Given the description of an element on the screen output the (x, y) to click on. 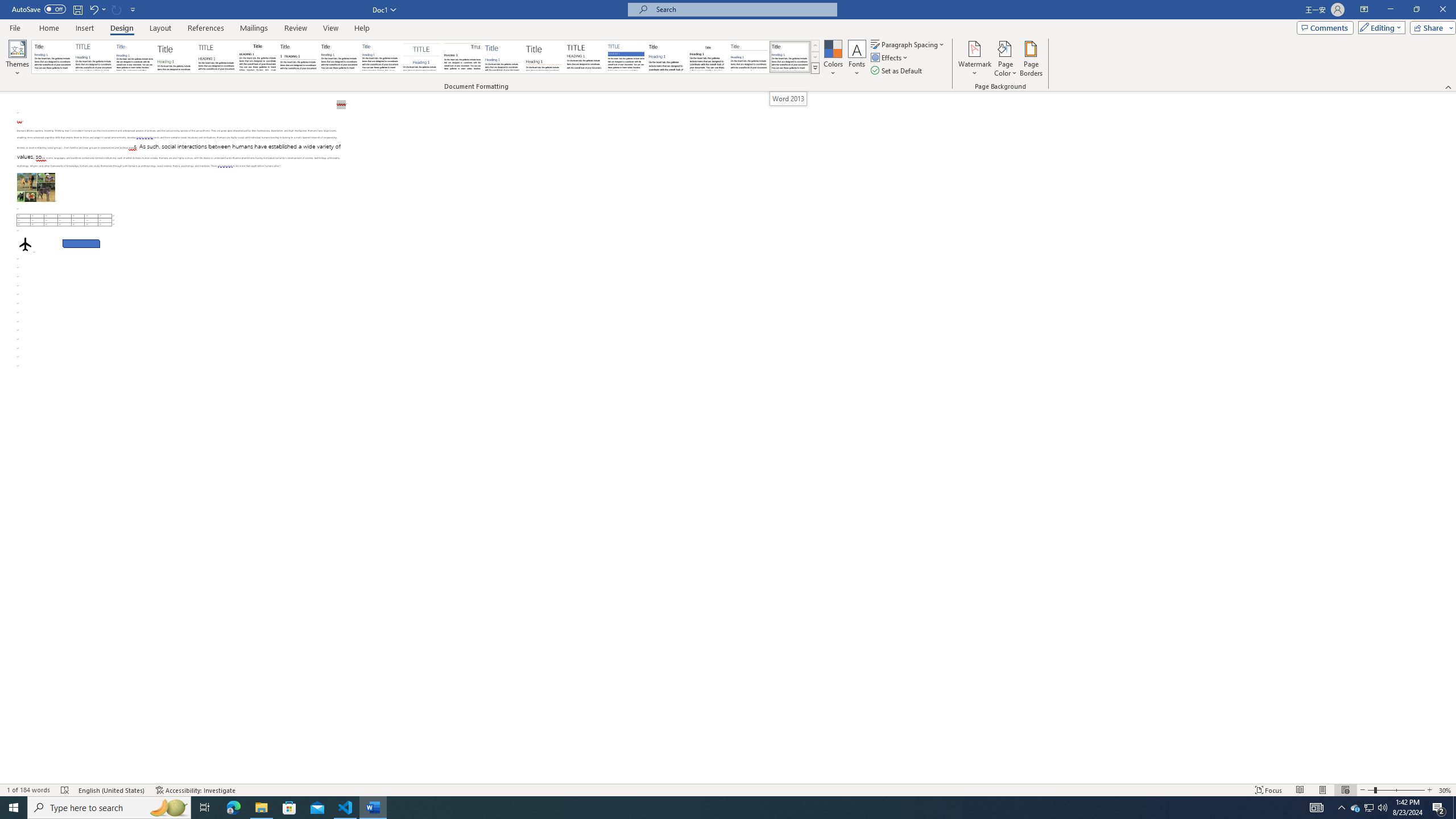
Word 2003 (707, 56)
Lines (Stylish) (544, 56)
Style Set (814, 67)
Airplane with solid fill (25, 243)
Can't Repeat (117, 9)
Casual (379, 56)
Colors (832, 58)
AutomationID: QuickStylesSets (425, 56)
Basic (Simple) (135, 56)
Themes (17, 58)
Rectangle: Diagonal Corners Snipped 2 (81, 243)
